Given the description of an element on the screen output the (x, y) to click on. 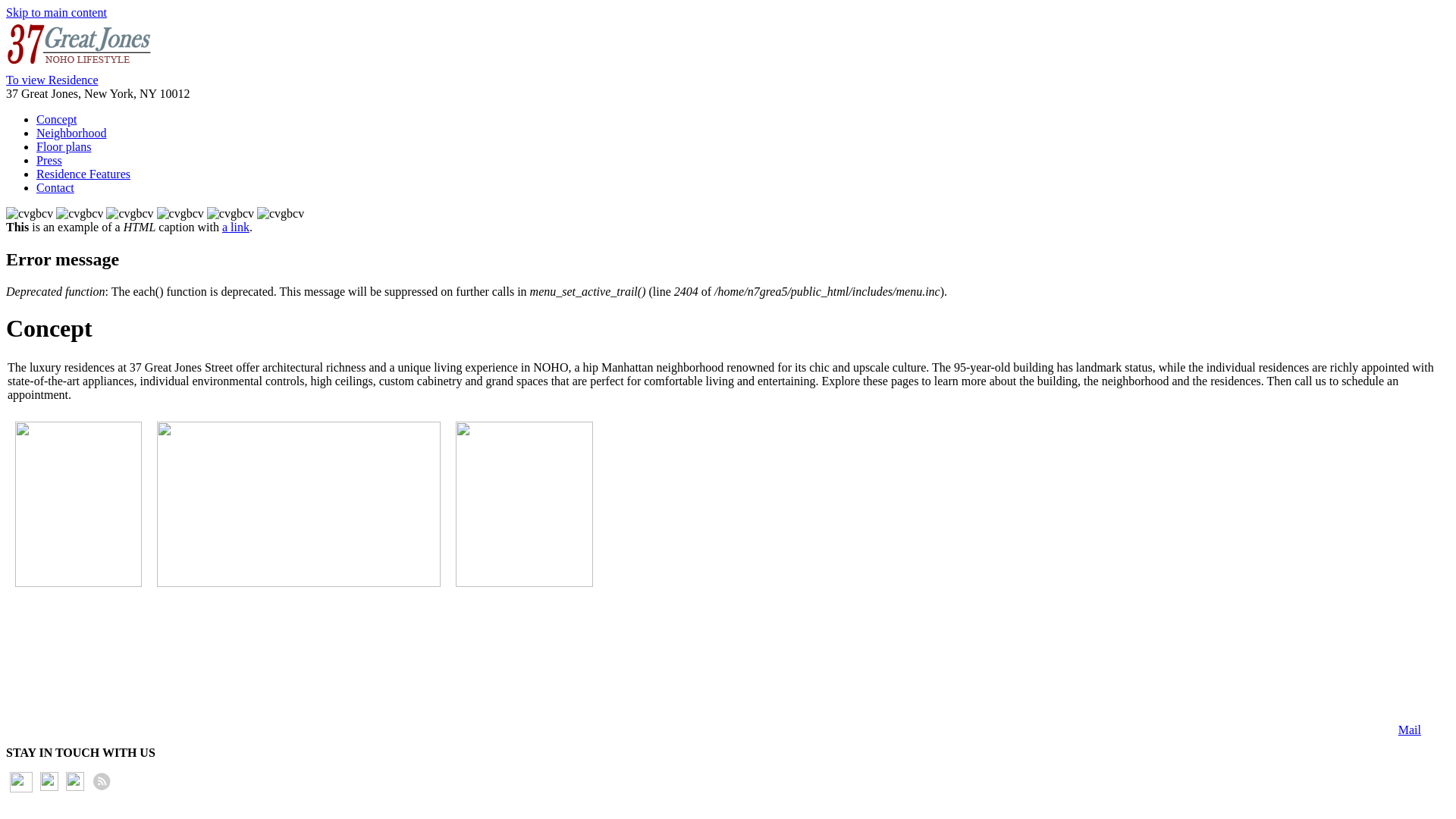
Concept Element type: text (56, 118)
a link Element type: text (235, 226)
Modern Luxury Residences with Historic Significance Element type: hover (129, 213)
Floor plans Element type: text (63, 146)
Modern Luxury Residences with Historic Significance Element type: hover (230, 213)
Skip to main content Element type: text (56, 12)
Modern Luxury Residences with Historic Significance Element type: hover (29, 213)
To view Residence Element type: text (52, 79)
Press Element type: text (49, 159)
Residence Features Element type: text (83, 173)
Mail Element type: text (719, 734)
Contact Element type: text (55, 187)
Modern Luxury Residences with Historic Significance Element type: hover (79, 213)
Home Element type: hover (80, 65)
Modern Luxury Residences with Historic Significance Element type: hover (280, 213)
Neighborhood Element type: text (71, 132)
Modern Luxury Residences with Historic Significance Element type: hover (179, 213)
